Given the description of an element on the screen output the (x, y) to click on. 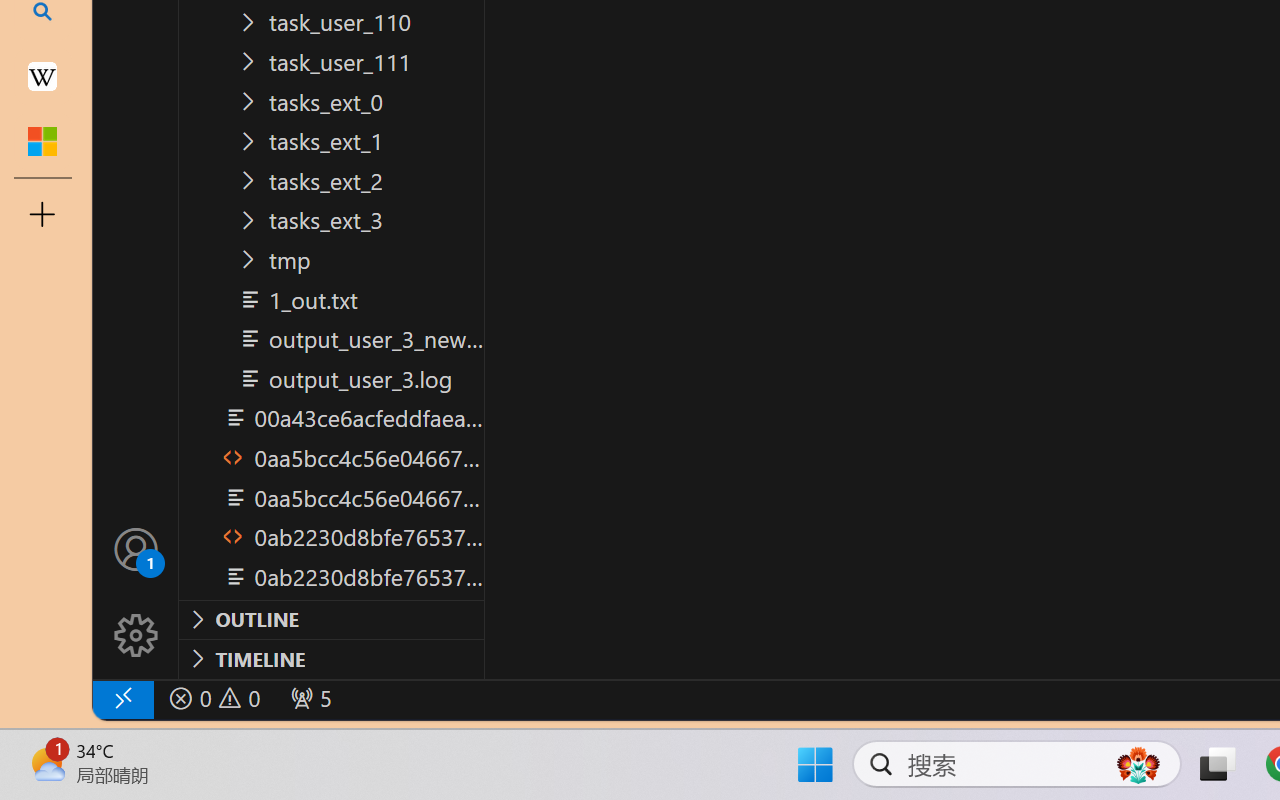
remote (122, 698)
Outline Section (331, 619)
Forwarded Ports: 36301, 47065, 38781, 45817, 50331 (308, 698)
Accounts - Sign in requested (135, 548)
Earth - Wikipedia (42, 75)
